Given the description of an element on the screen output the (x, y) to click on. 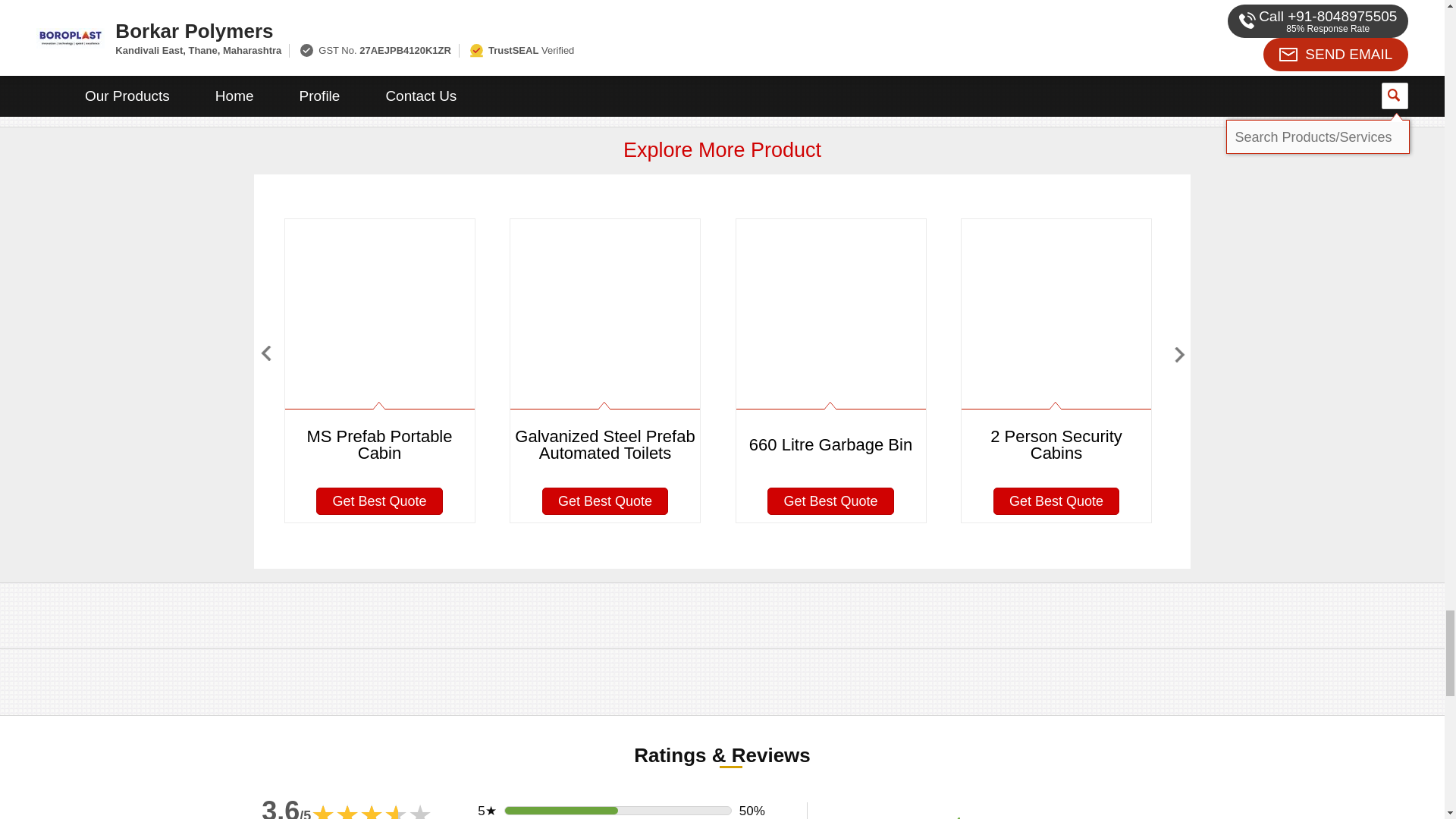
Galvanized Steel Prefab Automated Toilets (577, 1)
3.6 out of 5 Votes (286, 807)
Boroplast Commander Disinfectant Tunnel (867, 1)
